Given the description of an element on the screen output the (x, y) to click on. 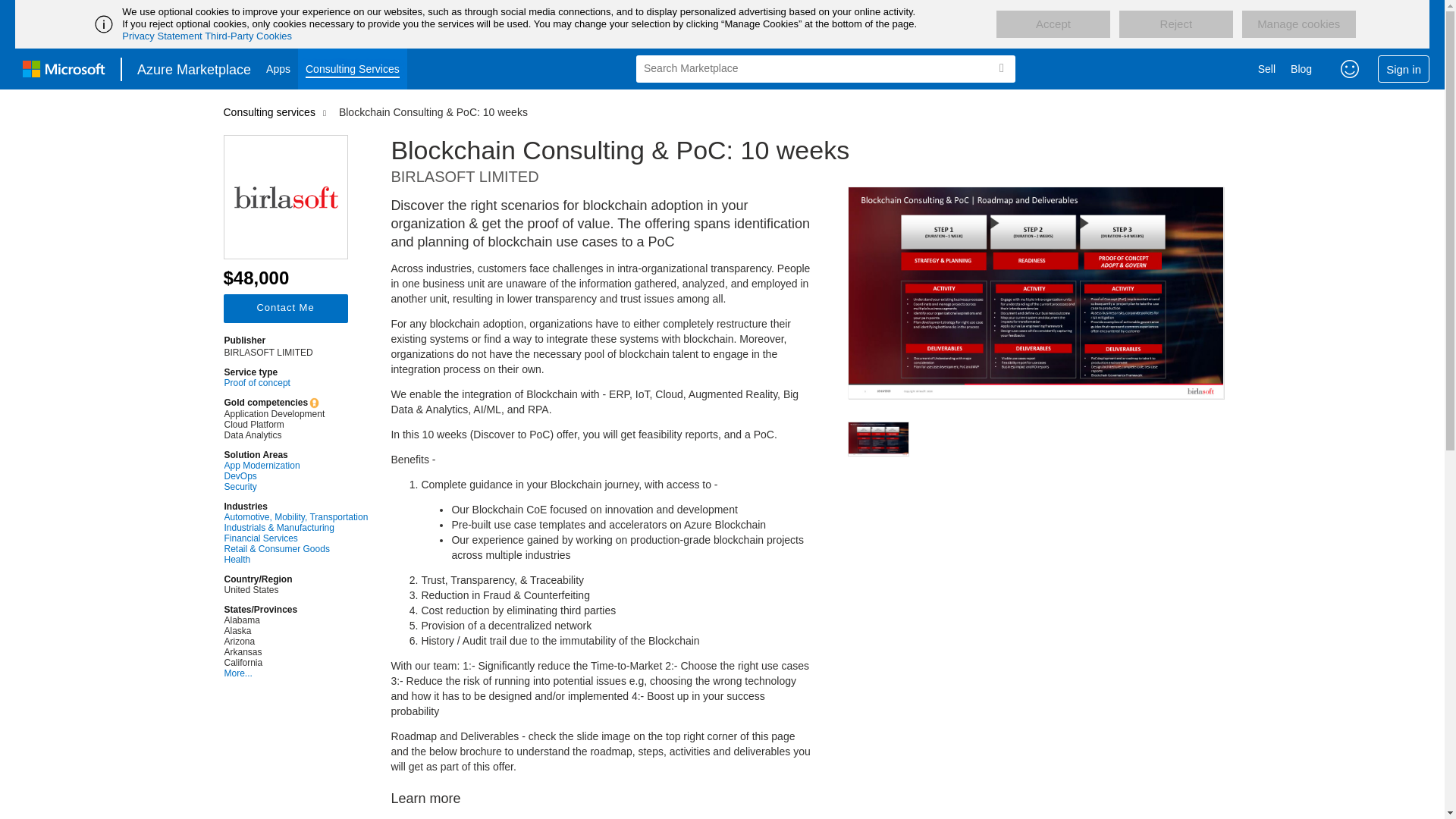
Blog (1300, 68)
Third-Party Cookies (248, 35)
Search (1001, 68)
Manage cookies (1298, 23)
Accept (1052, 23)
Reject (1176, 23)
Search  (1001, 68)
Privacy Statement (162, 35)
Consulting Services (352, 68)
